Given the description of an element on the screen output the (x, y) to click on. 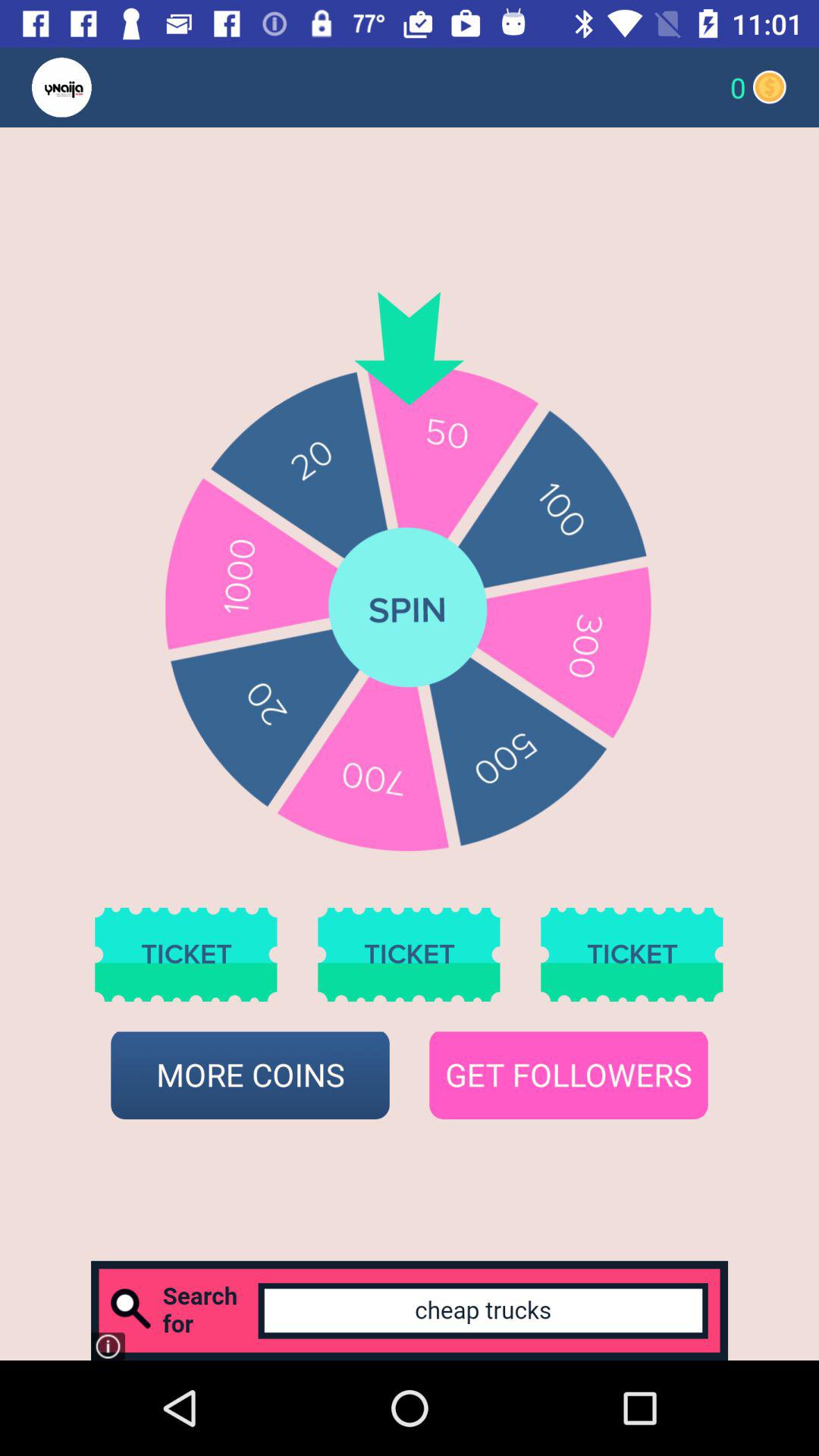
tap the get followers at the bottom right corner (568, 1075)
